Given the description of an element on the screen output the (x, y) to click on. 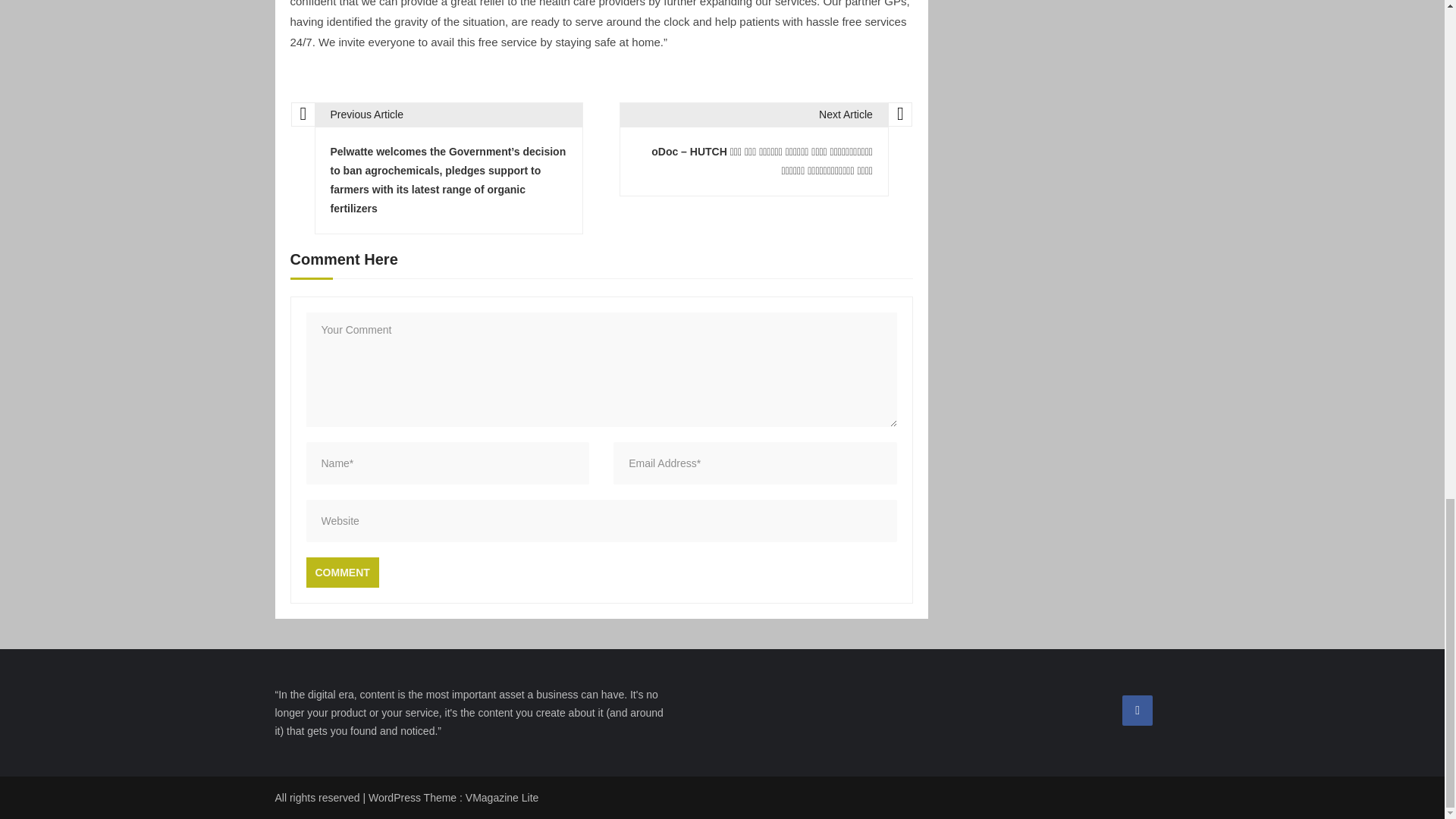
Comment (341, 572)
